Given the description of an element on the screen output the (x, y) to click on. 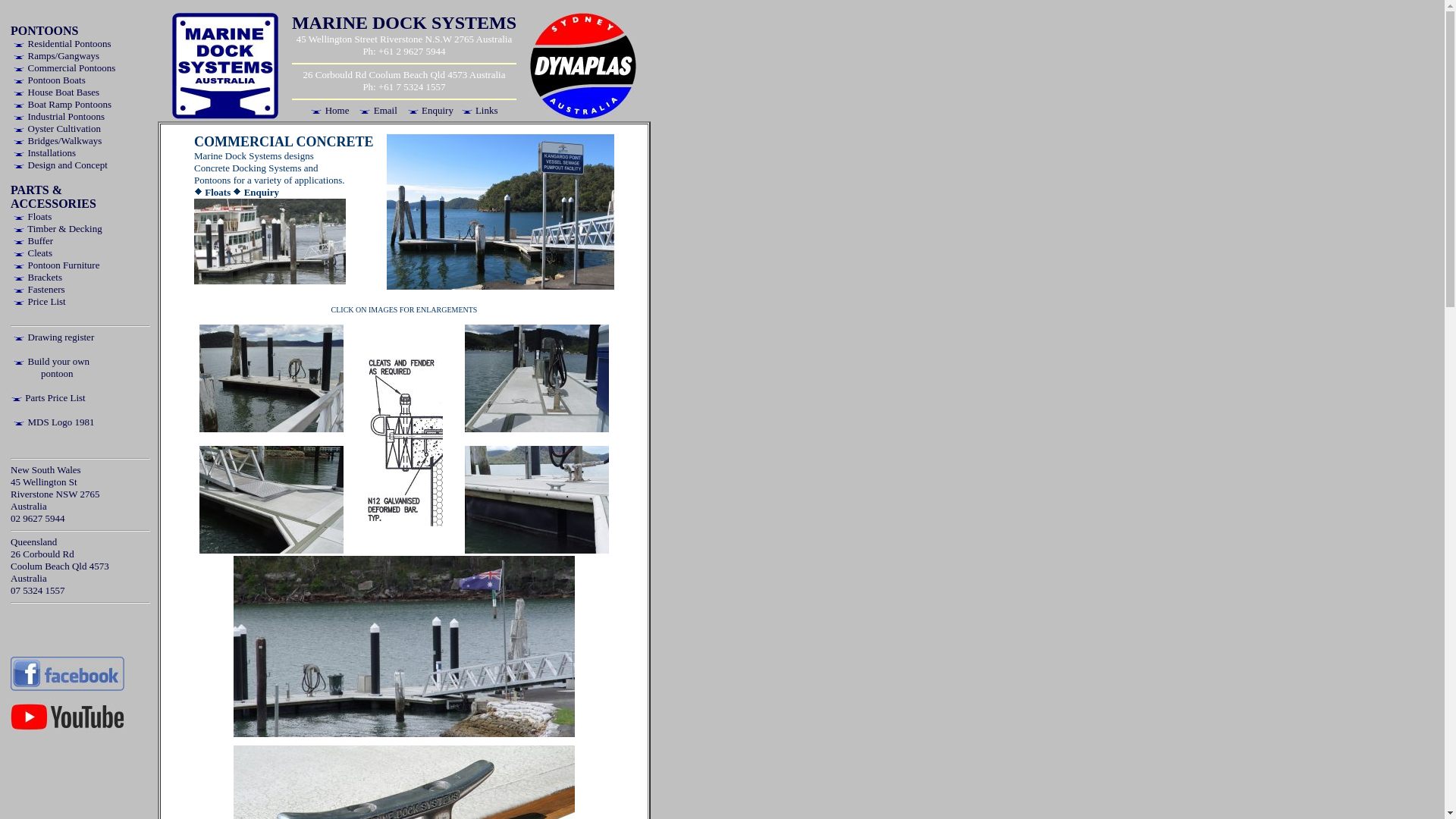
Timber & Decking Element type: text (56, 228)
Bridges/Walkways Element type: text (56, 140)
Pontoon Furniture Element type: text (55, 264)
Pontoon Boats Element type: text (48, 79)
Floats Element type: text (31, 216)
Drawing register Element type: text (53, 336)
Oyster Cultivation Element type: text (56, 128)
Boat Ramp Pontoons Element type: text (61, 103)
Cleats Element type: text (32, 252)
Buffer Element type: text (32, 240)
Commercial Pontoons Element type: text (63, 67)
Home Element type: text (329, 110)
Links Element type: text (479, 110)
House Boat Bases Element type: text (55, 91)
Industrial Pontoons Element type: text (58, 116)
Brackets Element type: text (37, 276)
Enquiry Element type: text (430, 110)
Build your own Element type: text (50, 361)
Installations Element type: text (43, 152)
Design and Concept Element type: text (59, 164)
Residential Pontoons Element type: text (61, 43)
Ramps/Gangways Element type: text (55, 55)
Enquiry Element type: text (255, 191)
Email Element type: text (377, 110)
pontoon Element type: text (56, 373)
MDS Logo 1981 Element type: text (53, 421)
Floats Element type: text (212, 191)
Price List Element type: text (38, 301)
Fasteners Element type: text (38, 288)
Parts Price List Element type: text (47, 397)
